Given the description of an element on the screen output the (x, y) to click on. 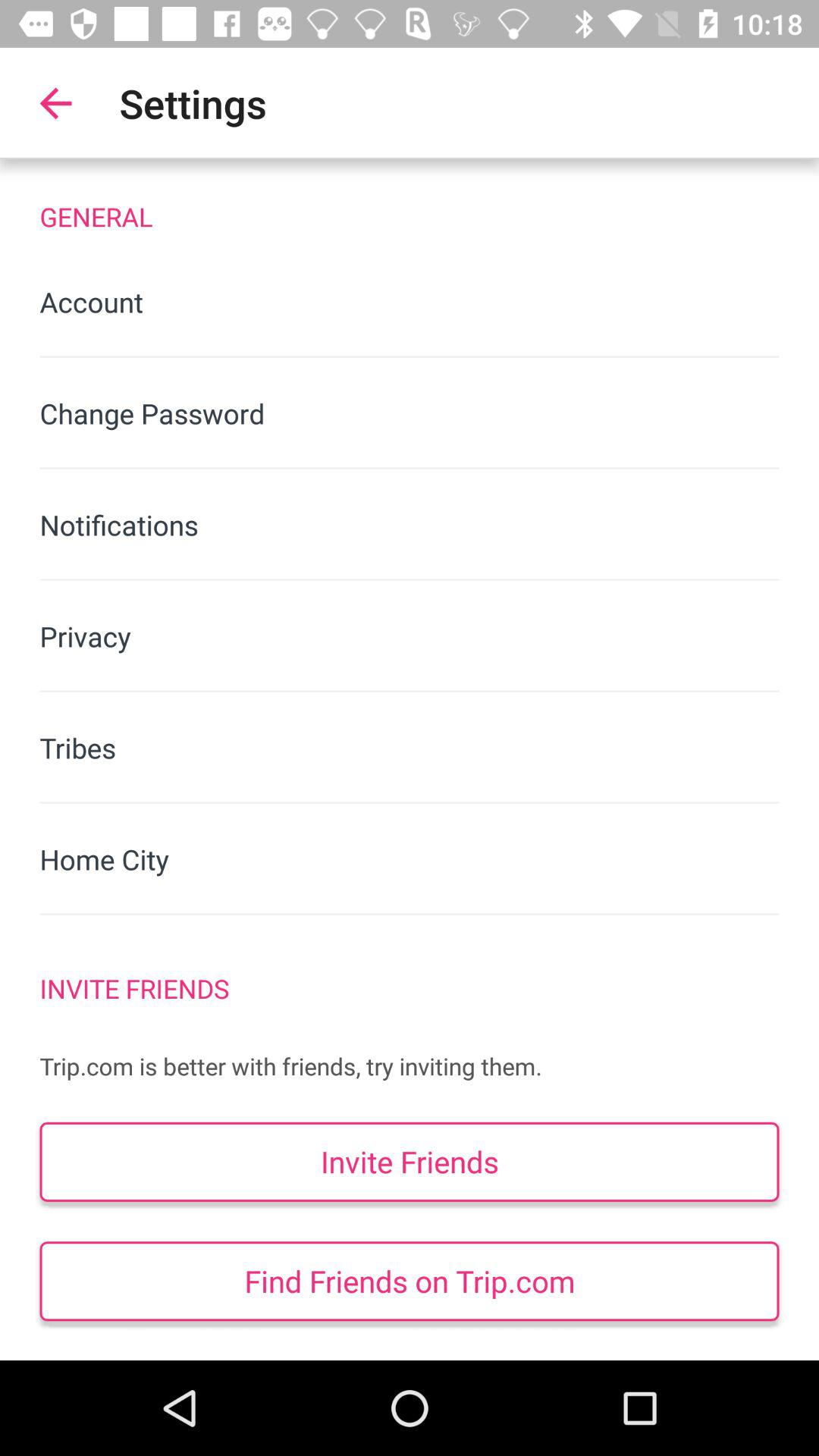
select icon below the general (409, 301)
